Given the description of an element on the screen output the (x, y) to click on. 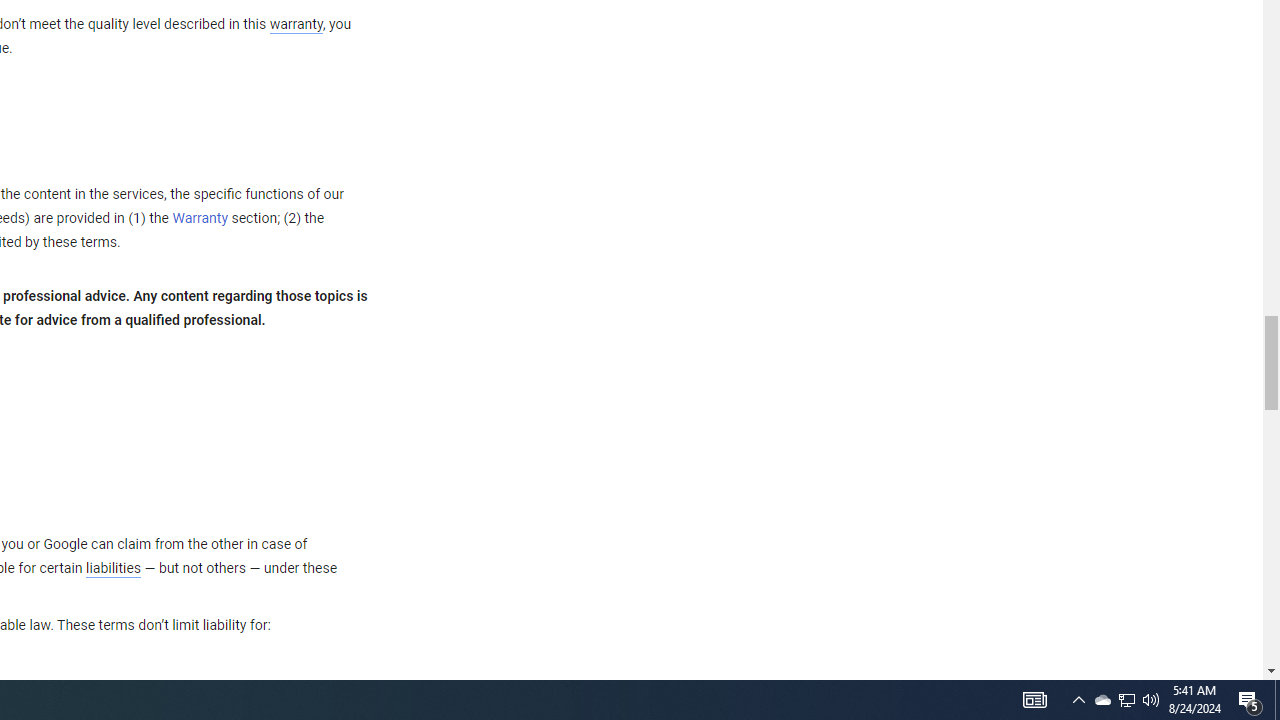
warranty (295, 25)
Warranty (200, 219)
liabilities (113, 568)
